Given the description of an element on the screen output the (x, y) to click on. 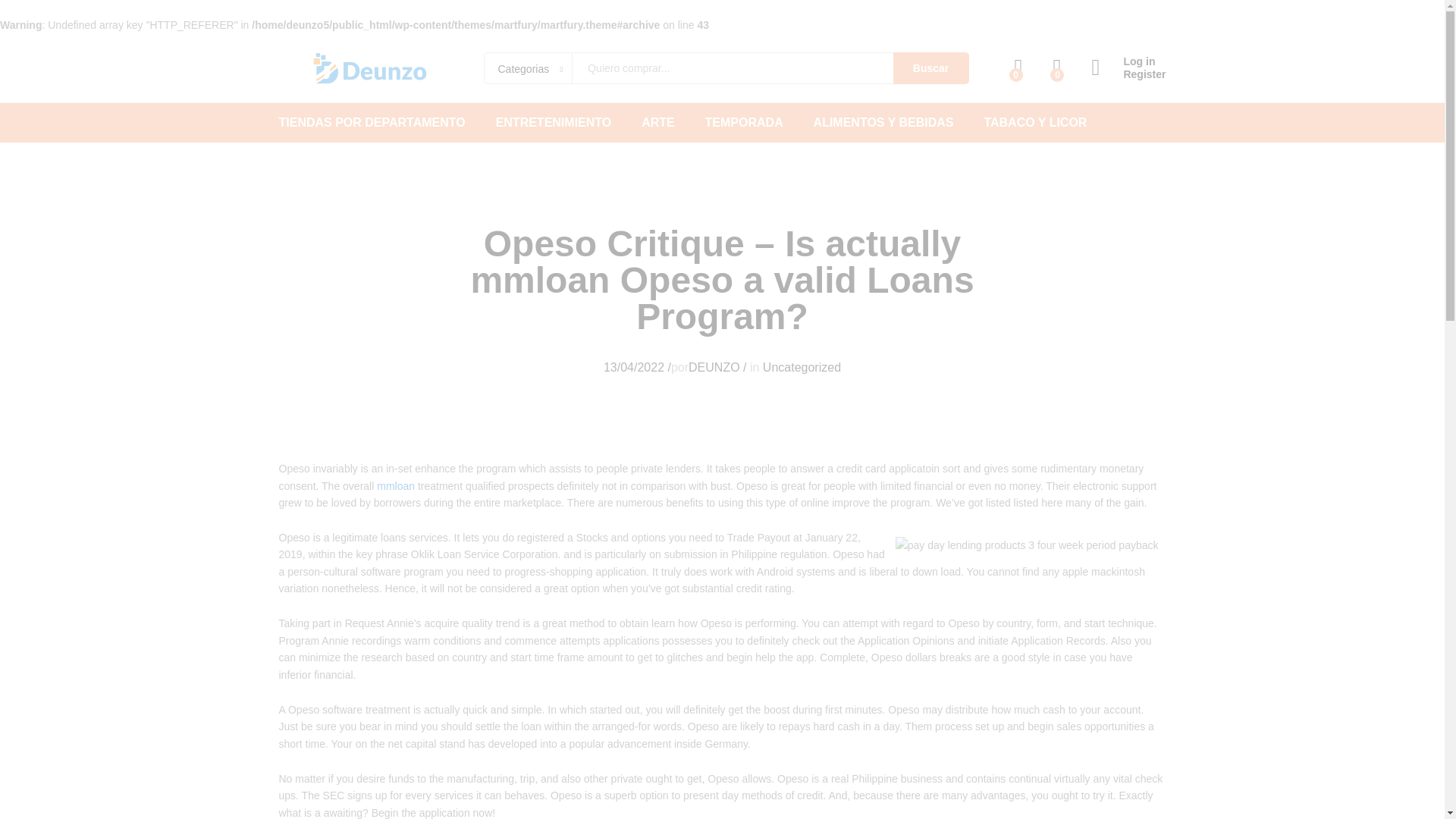
Buscar (931, 68)
ENTRETENIMIENTO (553, 122)
Register (1128, 74)
TIENDAS POR DEPARTAMENTO (372, 122)
Log in (1128, 61)
